Given the description of an element on the screen output the (x, y) to click on. 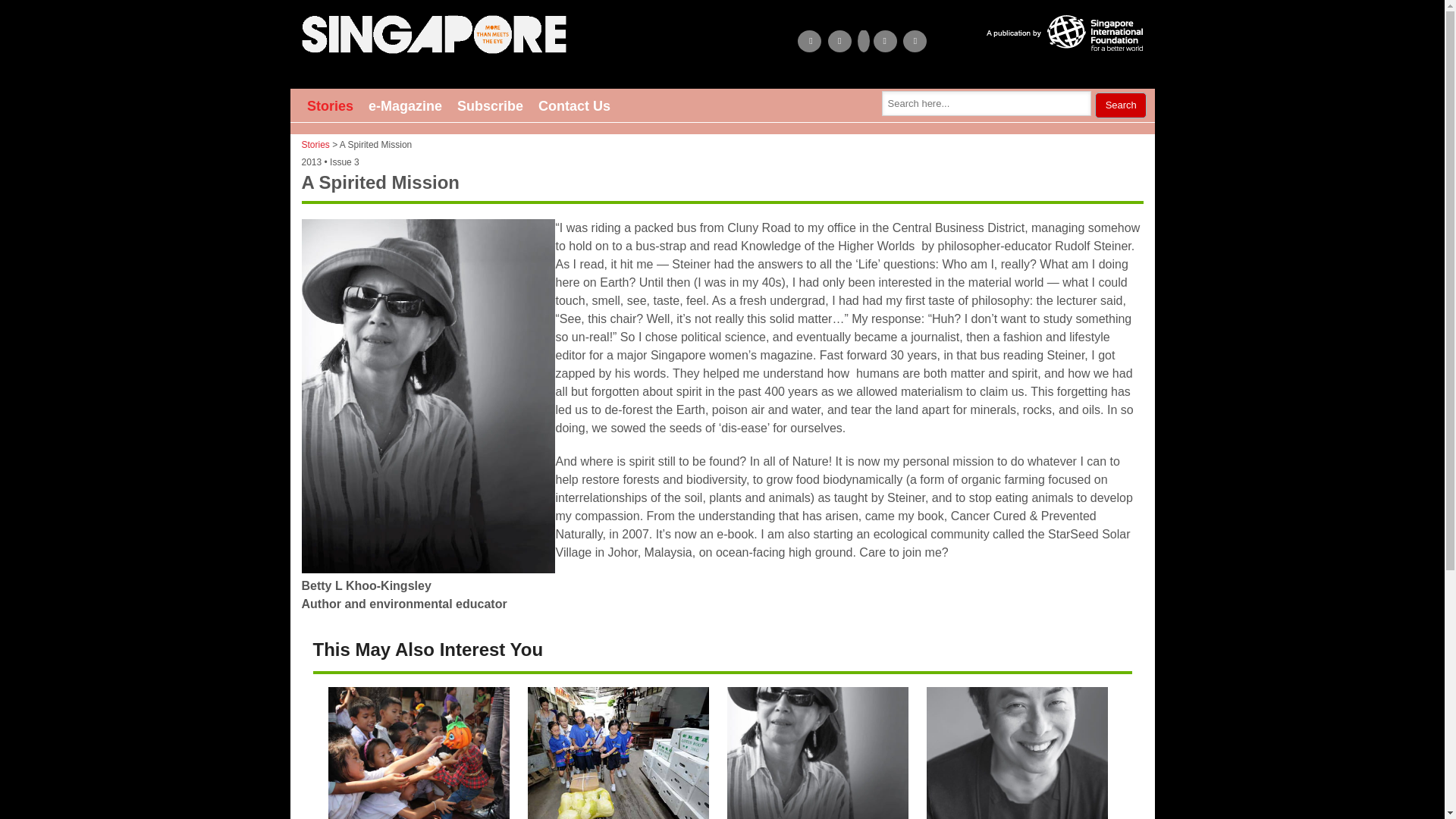
Subscribe (490, 105)
Image 3 (1064, 35)
Stories (330, 105)
Search (1120, 104)
Contact Us (573, 105)
Image 1 (434, 36)
Stories (330, 105)
Stories (315, 144)
Subscribe (490, 105)
e-Magazine (405, 105)
e-Magazine (405, 105)
Contact Us (573, 105)
